Given the description of an element on the screen output the (x, y) to click on. 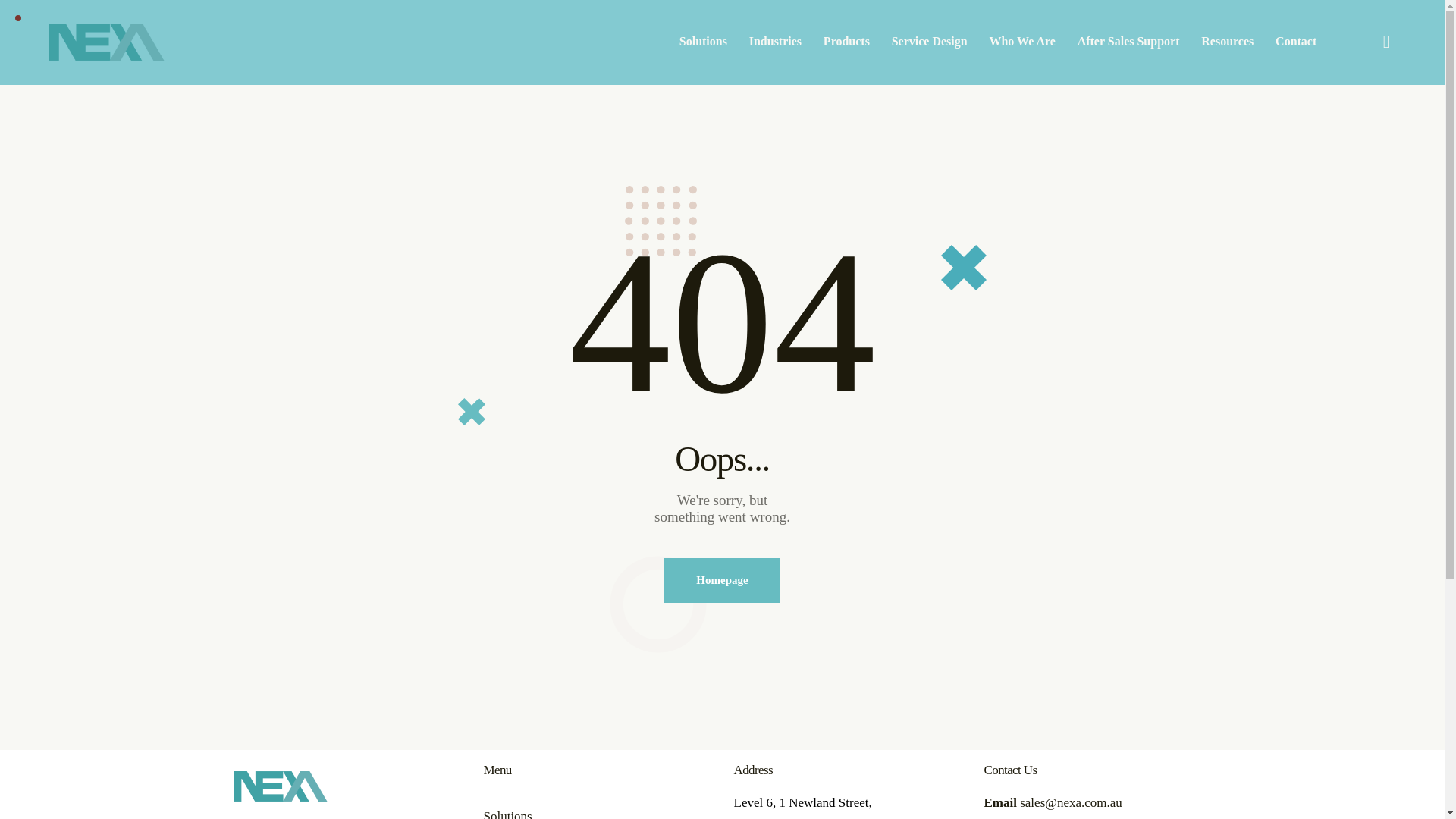
Who We Are (1021, 42)
Industries (775, 42)
After Sales Support (1128, 42)
Contact (1296, 42)
Resources (1228, 42)
Products (846, 42)
Service Design (929, 42)
Solutions (703, 42)
